Given the description of an element on the screen output the (x, y) to click on. 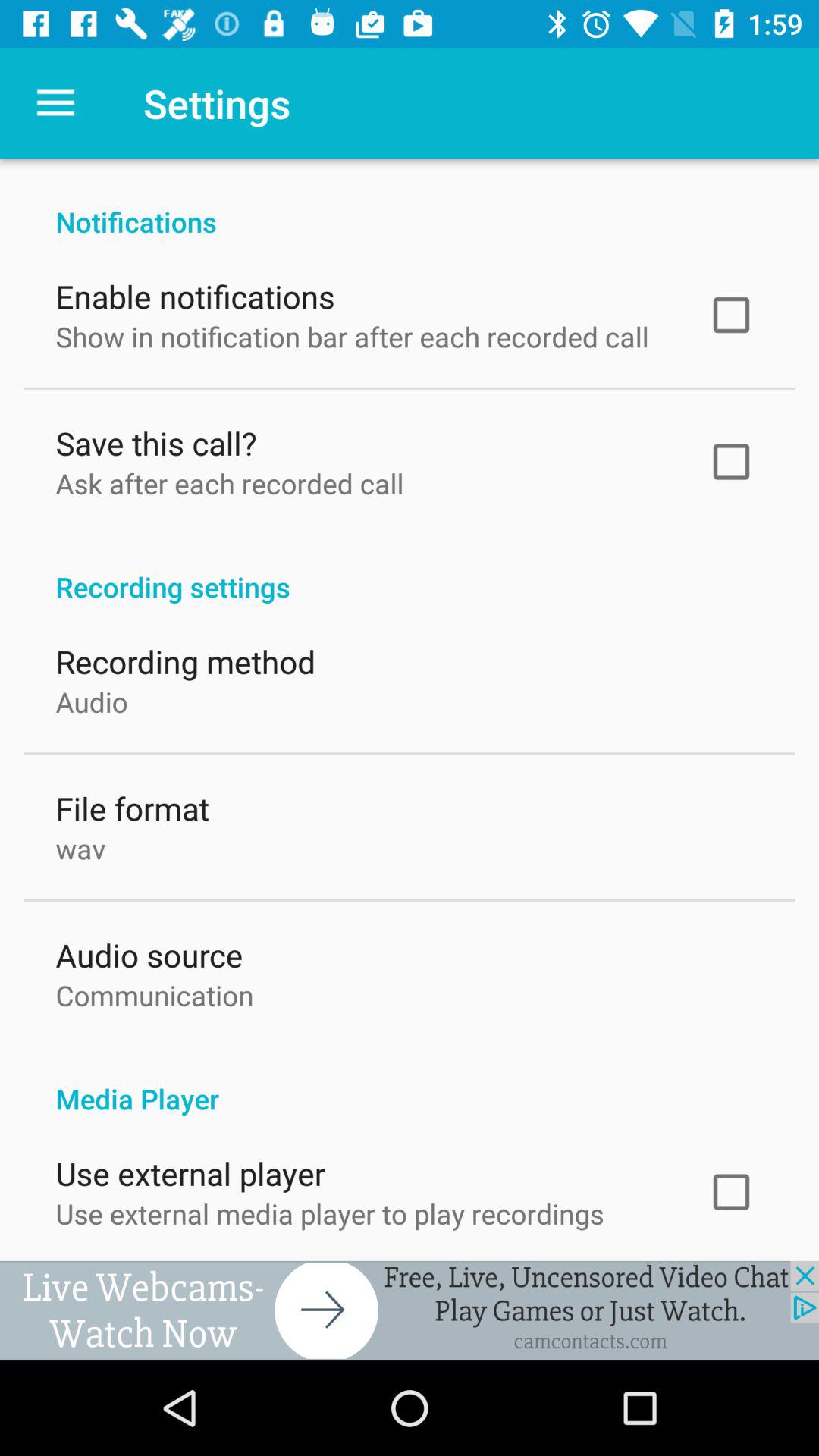
open wav item (80, 844)
